Given the description of an element on the screen output the (x, y) to click on. 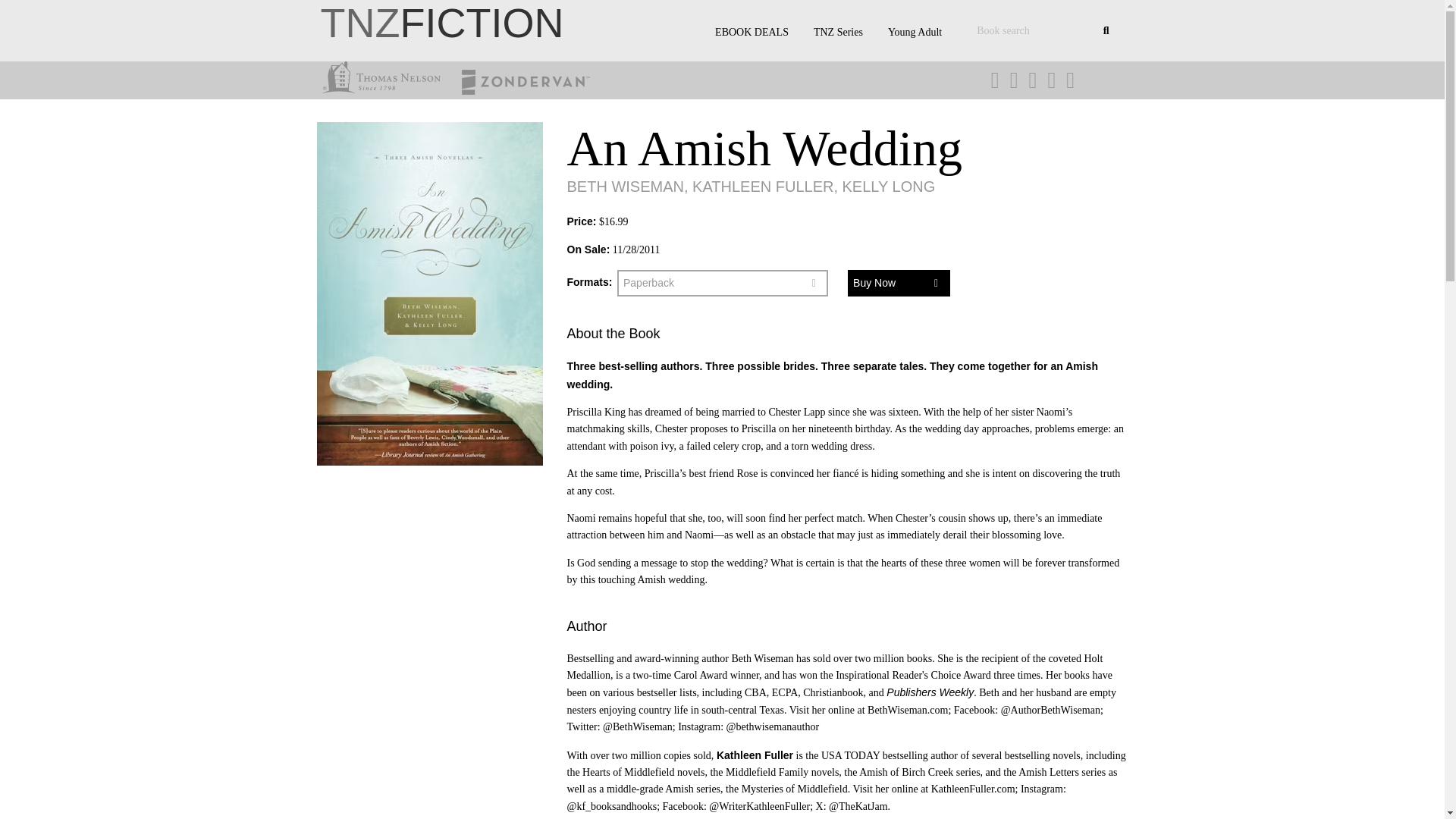
TNZ Series (838, 32)
Zondervan Logo (520, 81)
Young Adult (914, 32)
Thomas Nelson Logo (385, 77)
Amazon (898, 306)
Buy Now (898, 282)
eBook (722, 306)
EBOOK DEALS (751, 32)
Paperback (722, 282)
eBook (722, 306)
